Given the description of an element on the screen output the (x, y) to click on. 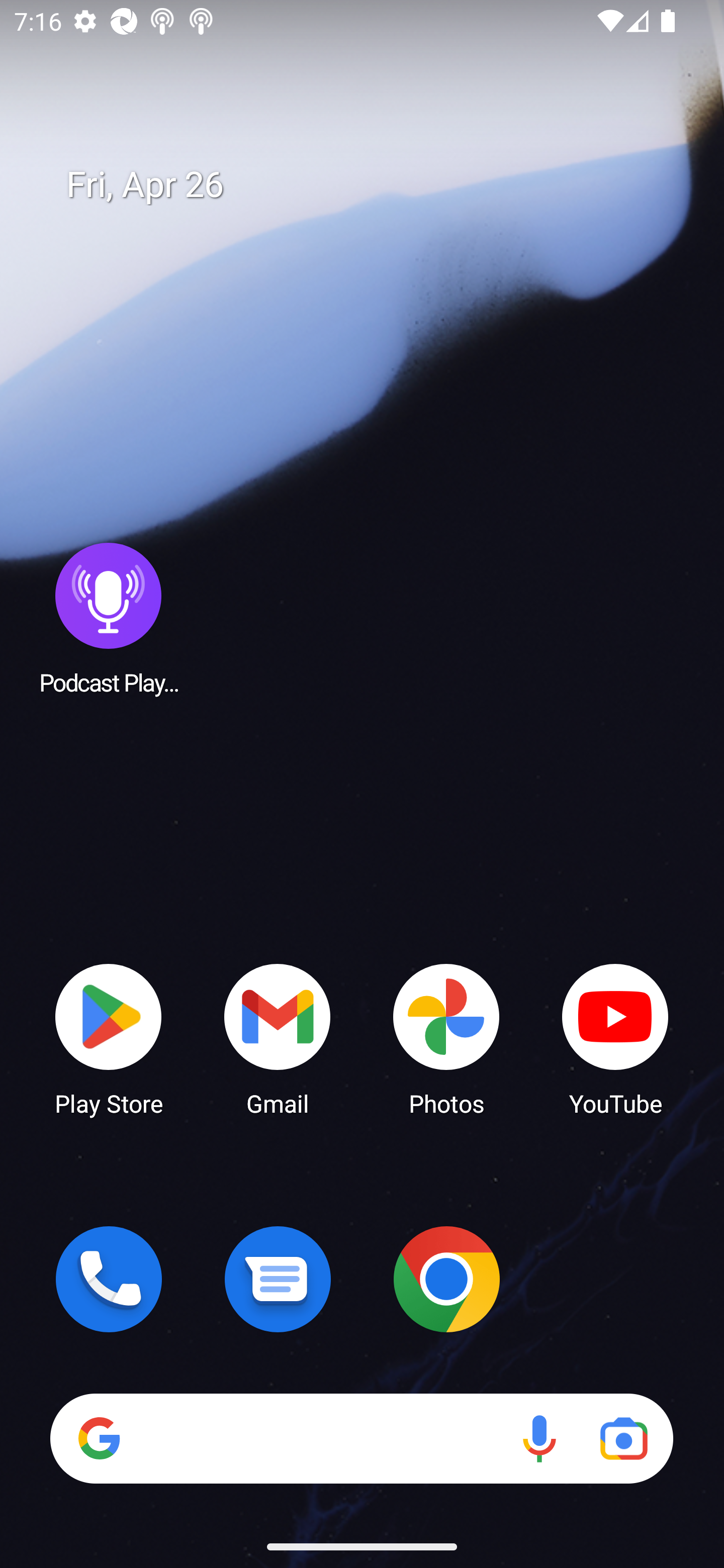
Fri, Apr 26 (375, 184)
Podcast Player (108, 617)
Play Store (108, 1038)
Gmail (277, 1038)
Photos (445, 1038)
YouTube (615, 1038)
Phone (108, 1279)
Messages (277, 1279)
Chrome (446, 1279)
Search Voice search Google Lens (361, 1438)
Voice search (539, 1438)
Google Lens (623, 1438)
